Given the description of an element on the screen output the (x, y) to click on. 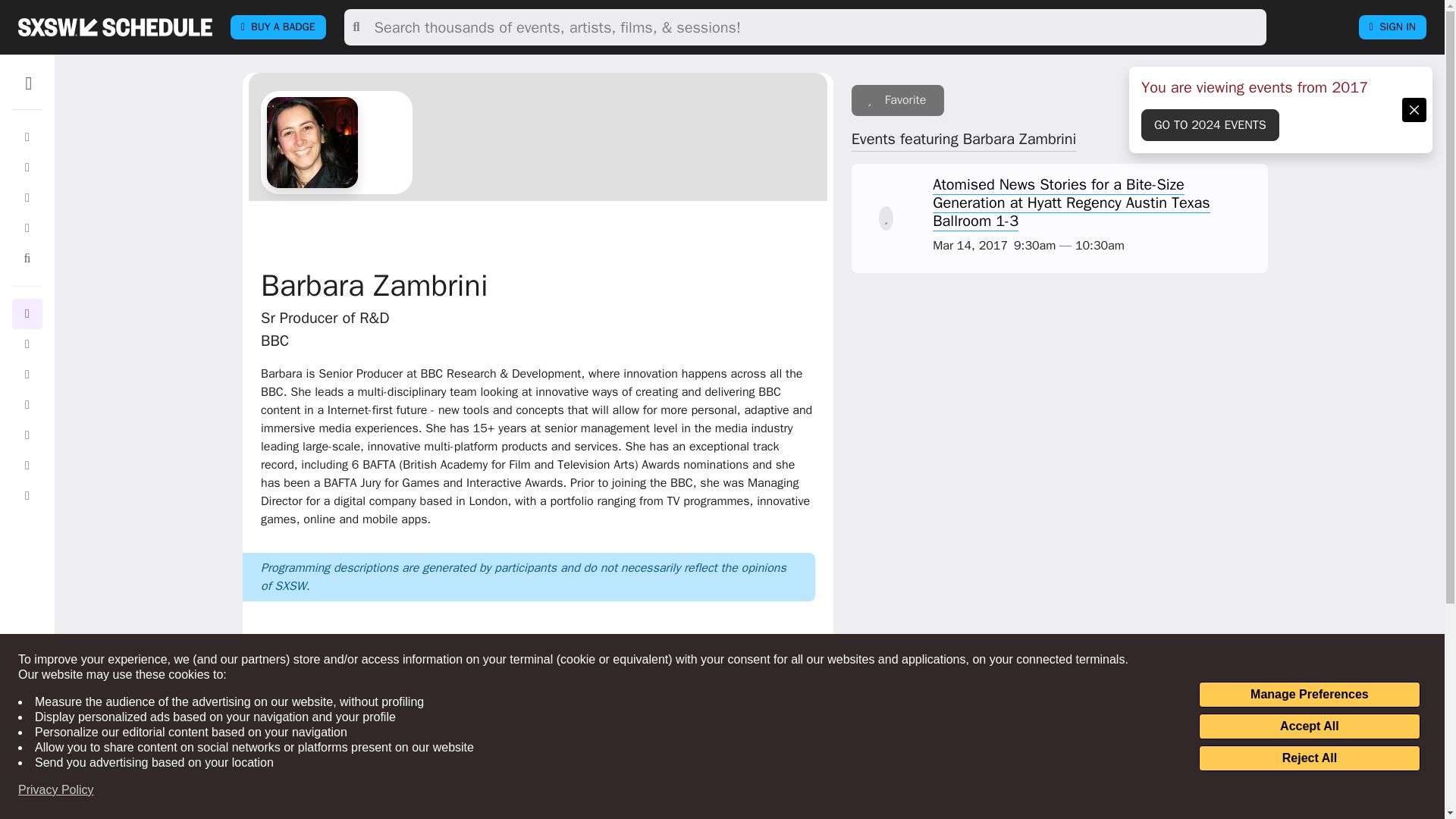
Sign In to add to your favorites. (897, 100)
GO TO 2024 EVENTS (1210, 124)
BUY A BADGE (278, 27)
Accept All (1309, 726)
SIGN IN (1392, 27)
Manage Preferences (1309, 694)
sxsw SCHEDULE (114, 27)
Privacy Policy (55, 789)
Reject All (1309, 758)
